Given the description of an element on the screen output the (x, y) to click on. 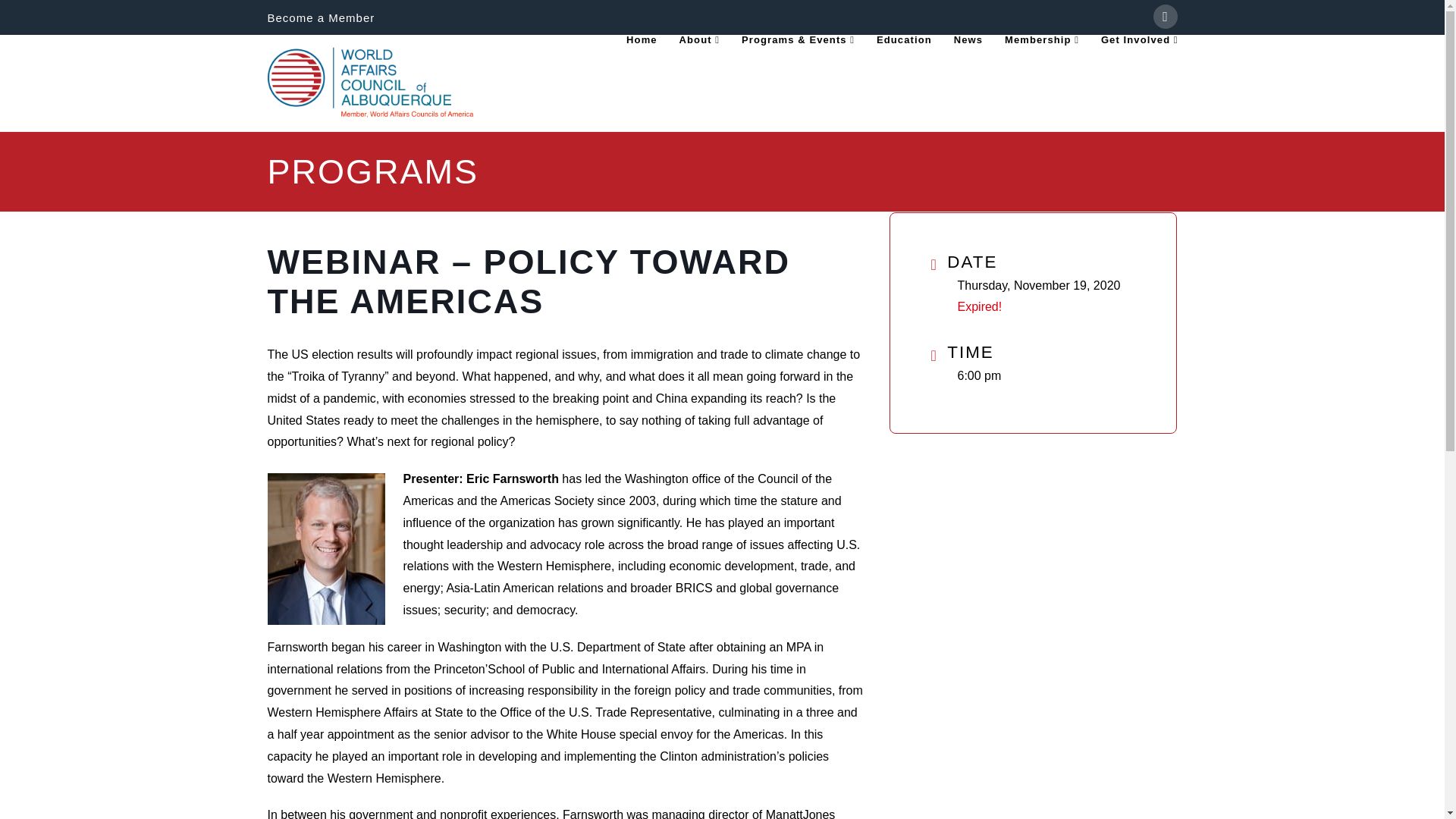
Membership (1040, 69)
Education (903, 69)
Facebook (1164, 16)
About (699, 69)
Become a Member (320, 17)
Get Involved (1133, 69)
